Given the description of an element on the screen output the (x, y) to click on. 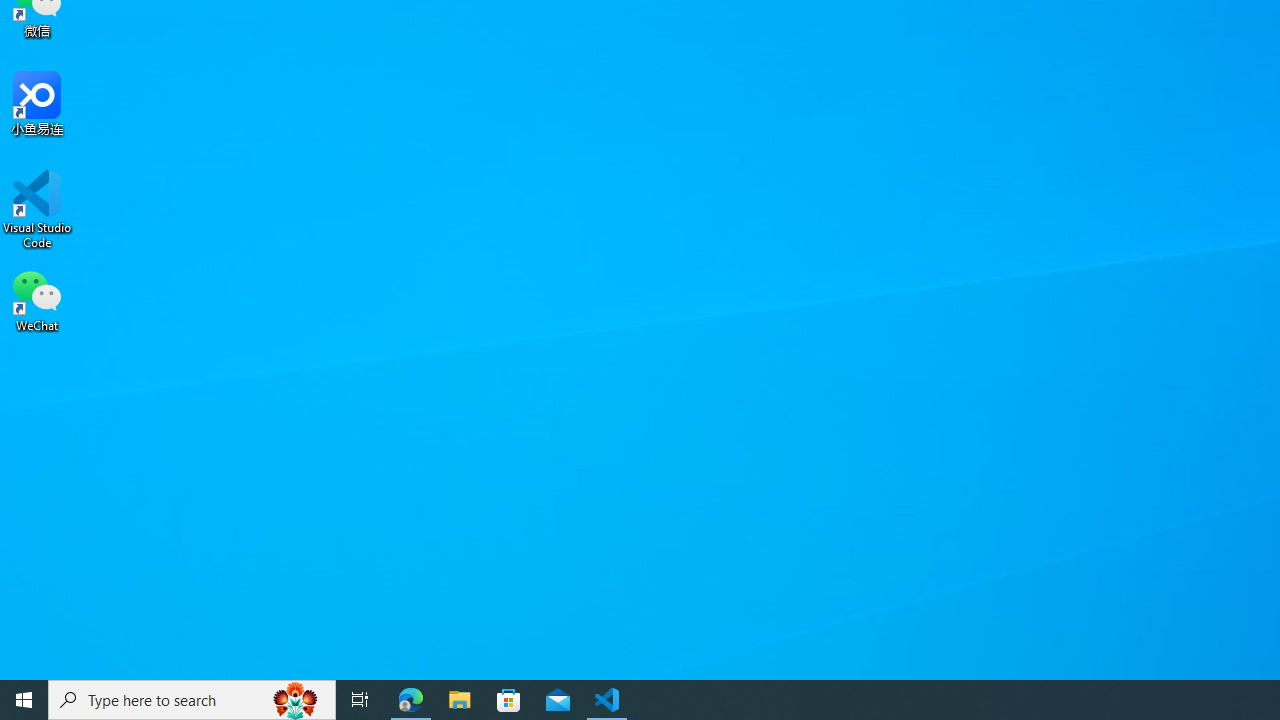
Visual Studio Code (37, 209)
Task View (359, 699)
Microsoft Edge - 1 running window (411, 699)
Start (24, 699)
Microsoft Store (509, 699)
Type here to search (191, 699)
File Explorer (460, 699)
Search highlights icon opens search home window (295, 699)
Visual Studio Code - 1 running window (607, 699)
WeChat (37, 299)
